Given the description of an element on the screen output the (x, y) to click on. 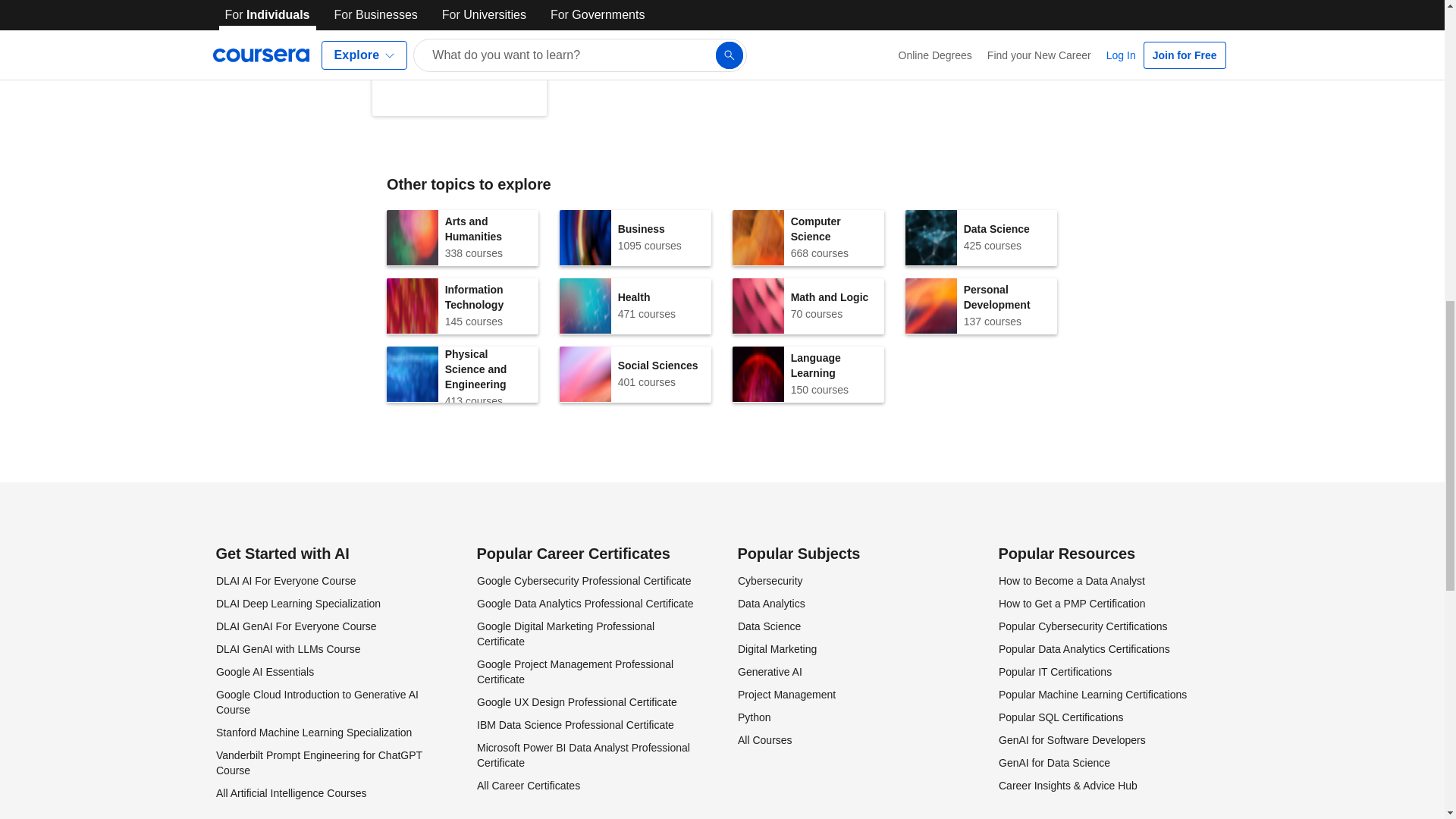
DLAI Deep Learning Specialization (297, 603)
DLAI GenAI with LLMs Course (807, 306)
Google Data Analytics Professional Certificate (287, 648)
